Given the description of an element on the screen output the (x, y) to click on. 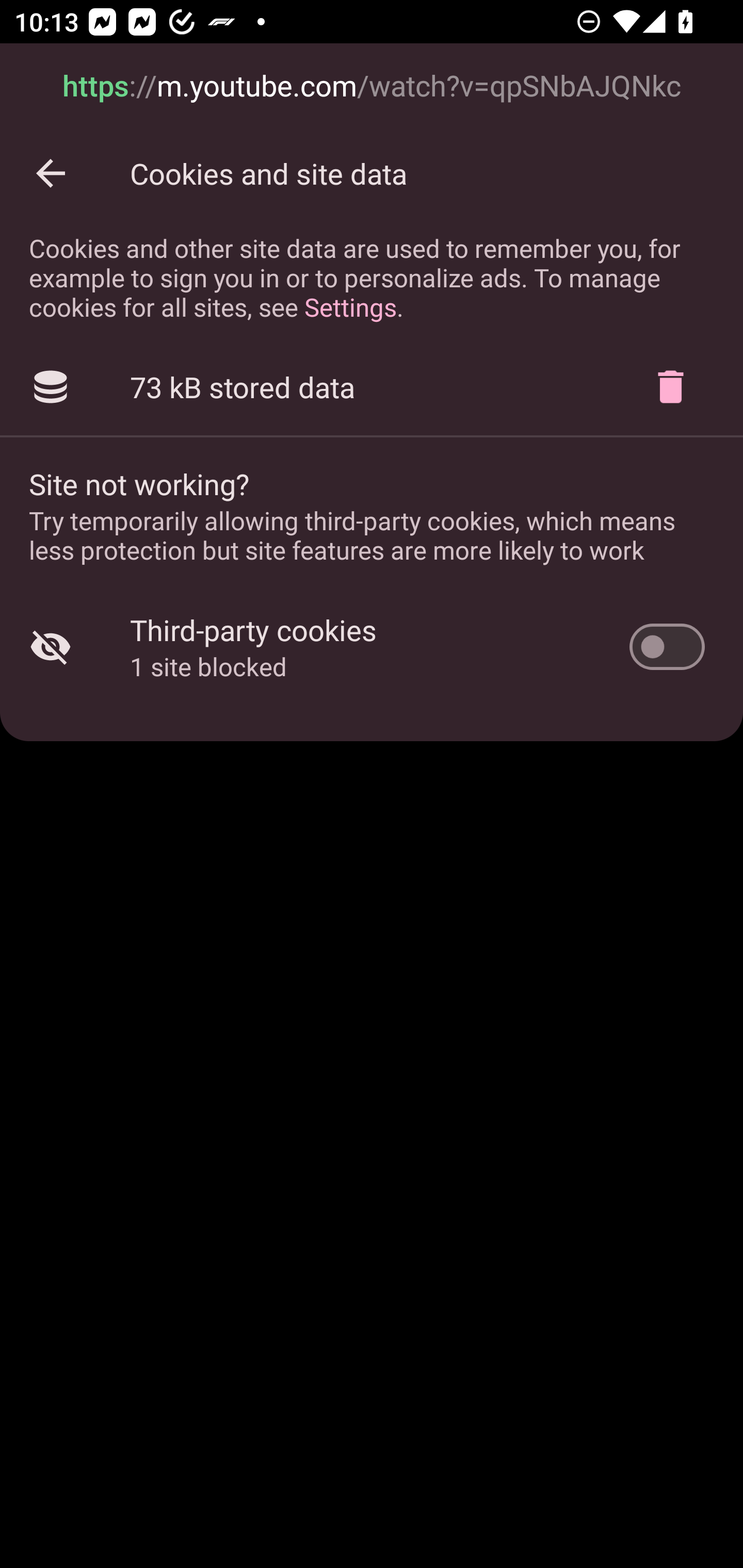
https://m.youtube.com/watch?v=qpSNbAJQNkc (371, 86)
Back (50, 173)
73 kB stored data Delete cookies? (371, 386)
Third-party cookies 1 site blocked (371, 646)
